Given the description of an element on the screen output the (x, y) to click on. 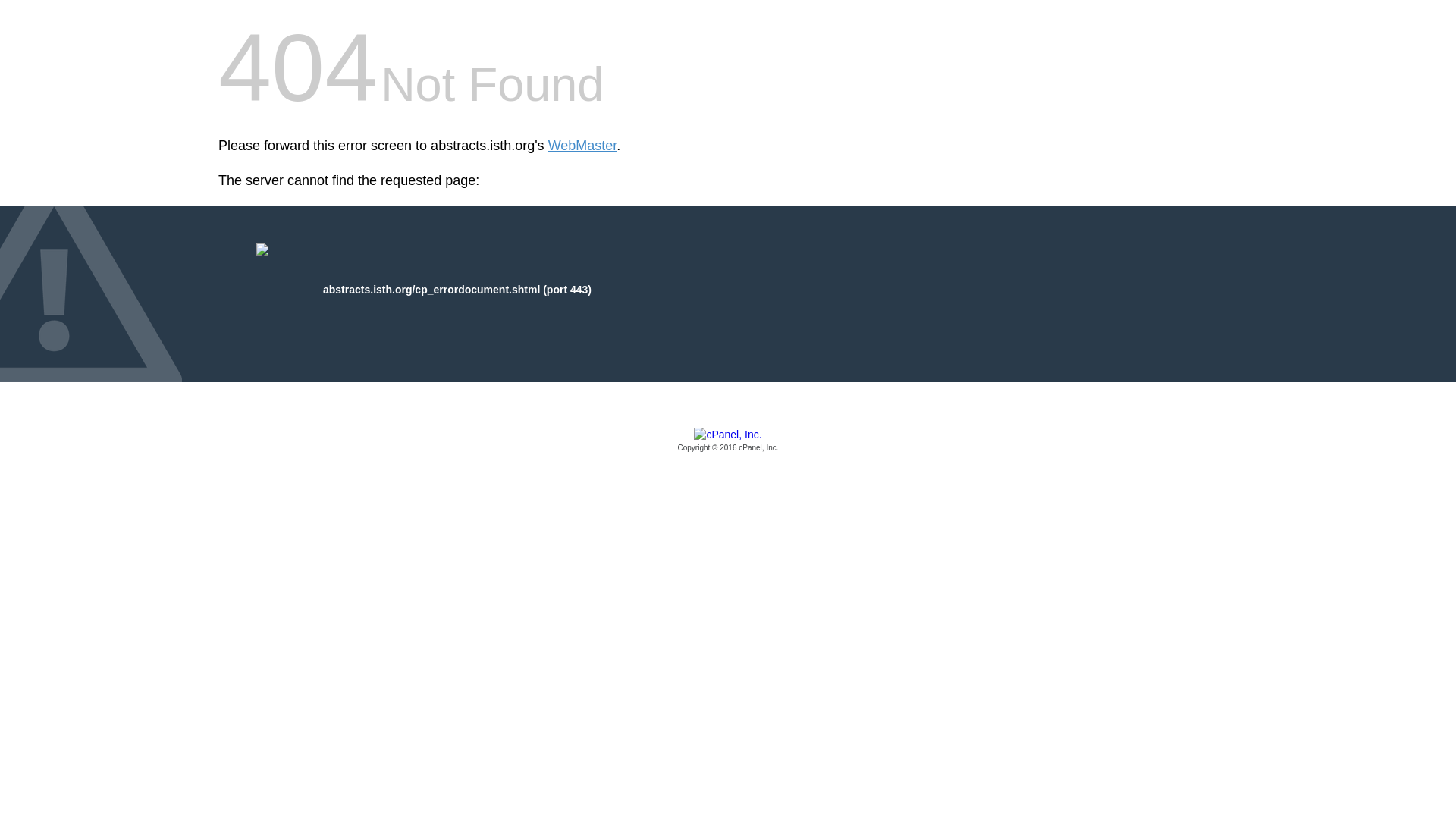
cPanel, Inc. (727, 440)
WebMaster (582, 145)
